Given the description of an element on the screen output the (x, y) to click on. 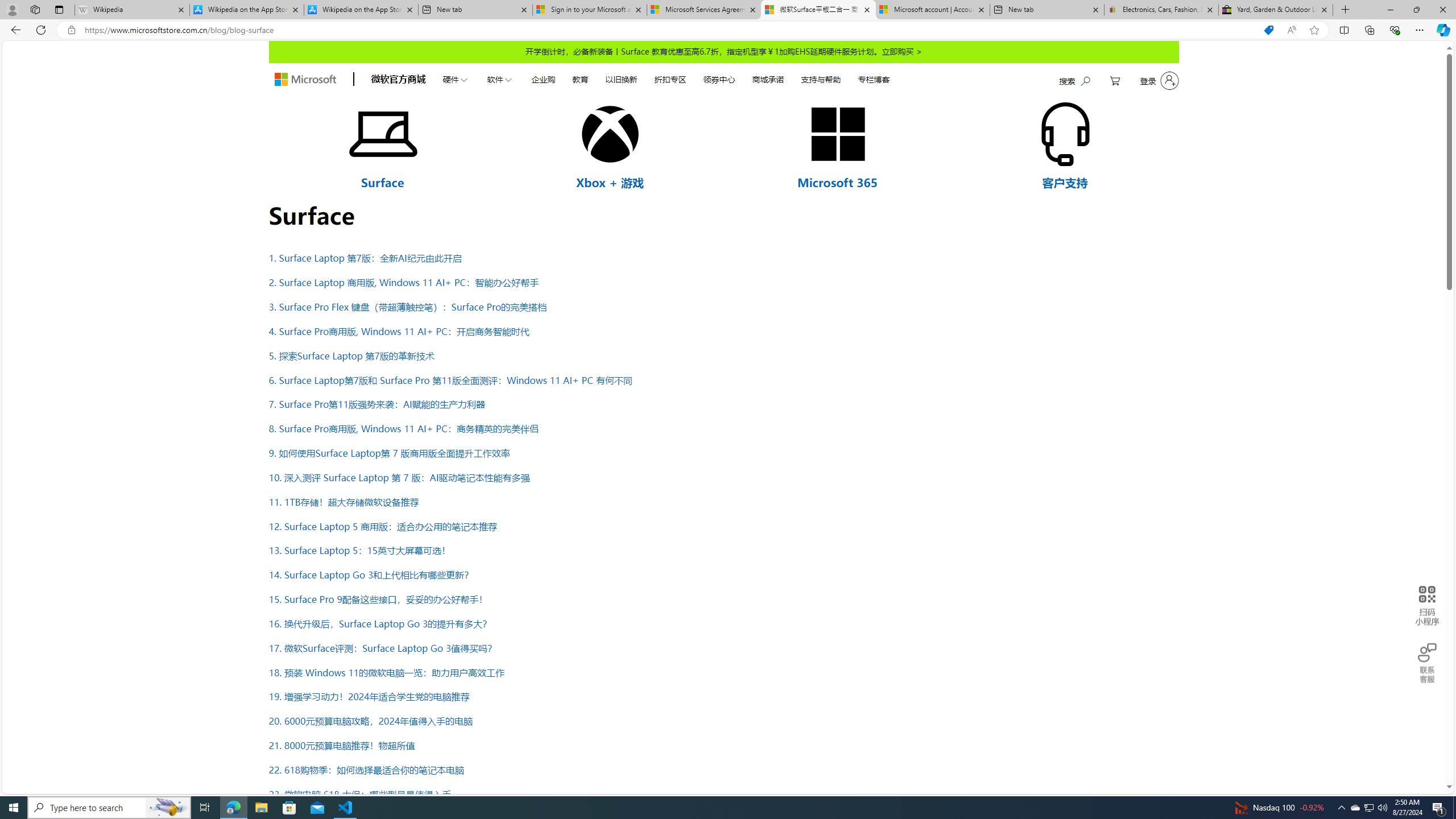
Split screen (1344, 29)
Microsoft account | Account Checkup (932, 9)
New Tab (1346, 9)
Back (13, 29)
Minimize (1390, 9)
Tab actions menu (58, 9)
Personal Profile (12, 9)
